Given the description of an element on the screen output the (x, y) to click on. 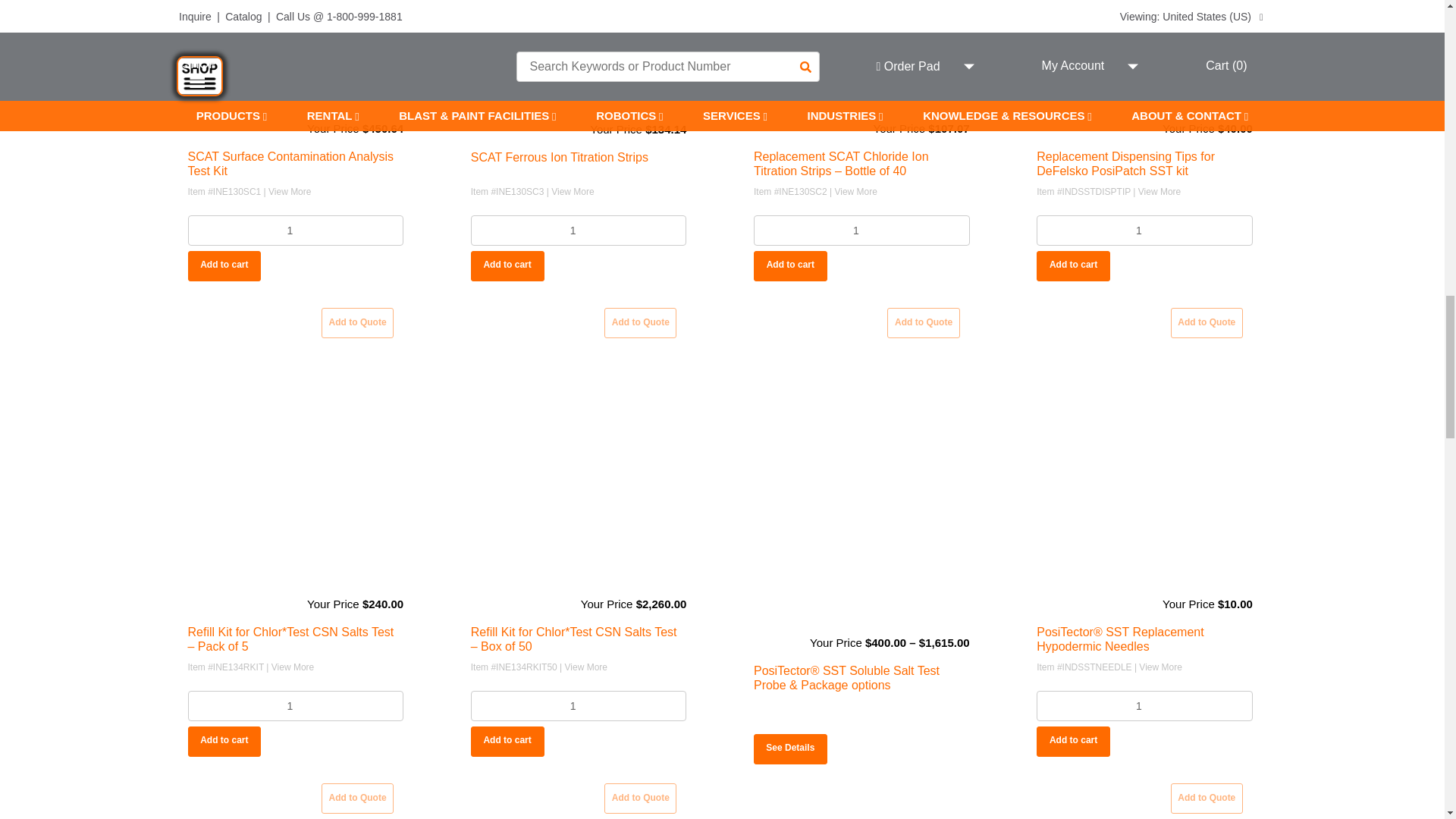
1 (295, 230)
1 (1144, 706)
1 (295, 706)
1 (861, 230)
1 (578, 230)
1 (578, 706)
1 (1144, 230)
